Given the description of an element on the screen output the (x, y) to click on. 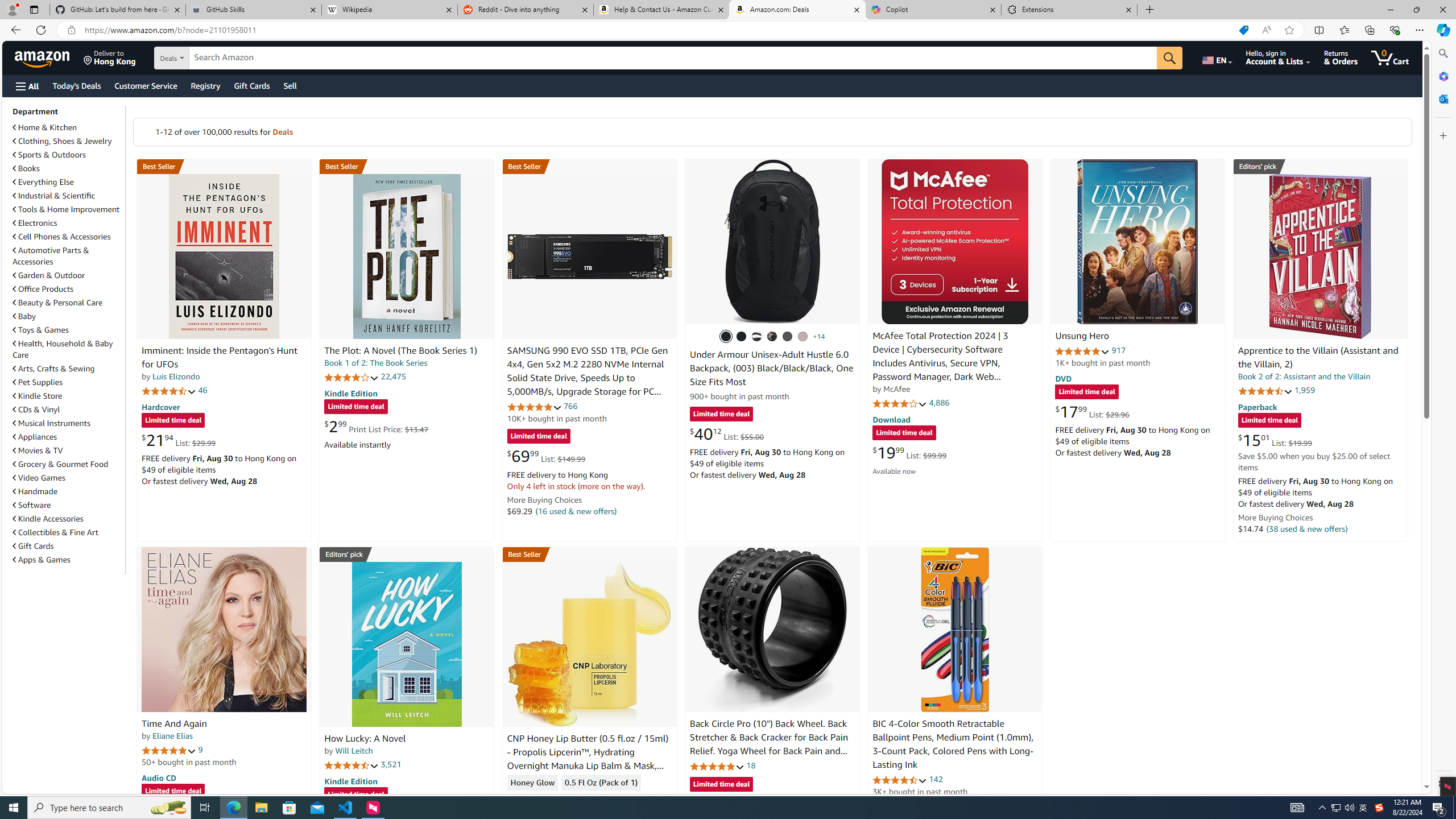
(16 used & new offers) (576, 511)
(002) Black / Black / White (756, 336)
Baby (24, 316)
$19.99 List: $99.99 (909, 452)
4,886 (938, 402)
Tools & Home Improvement (66, 208)
Musical Instruments (51, 422)
Address and search bar (658, 29)
Today's Deals (76, 85)
$2.99 Print List Price: $13.47 (376, 426)
$40.12 List: $55.00 (726, 433)
$69.99 List: $149.99 (545, 455)
Book 2 of 2: Assistant and the Villain (1303, 376)
Clothing, Shoes & Jewelry (62, 140)
